Given the description of an element on the screen output the (x, y) to click on. 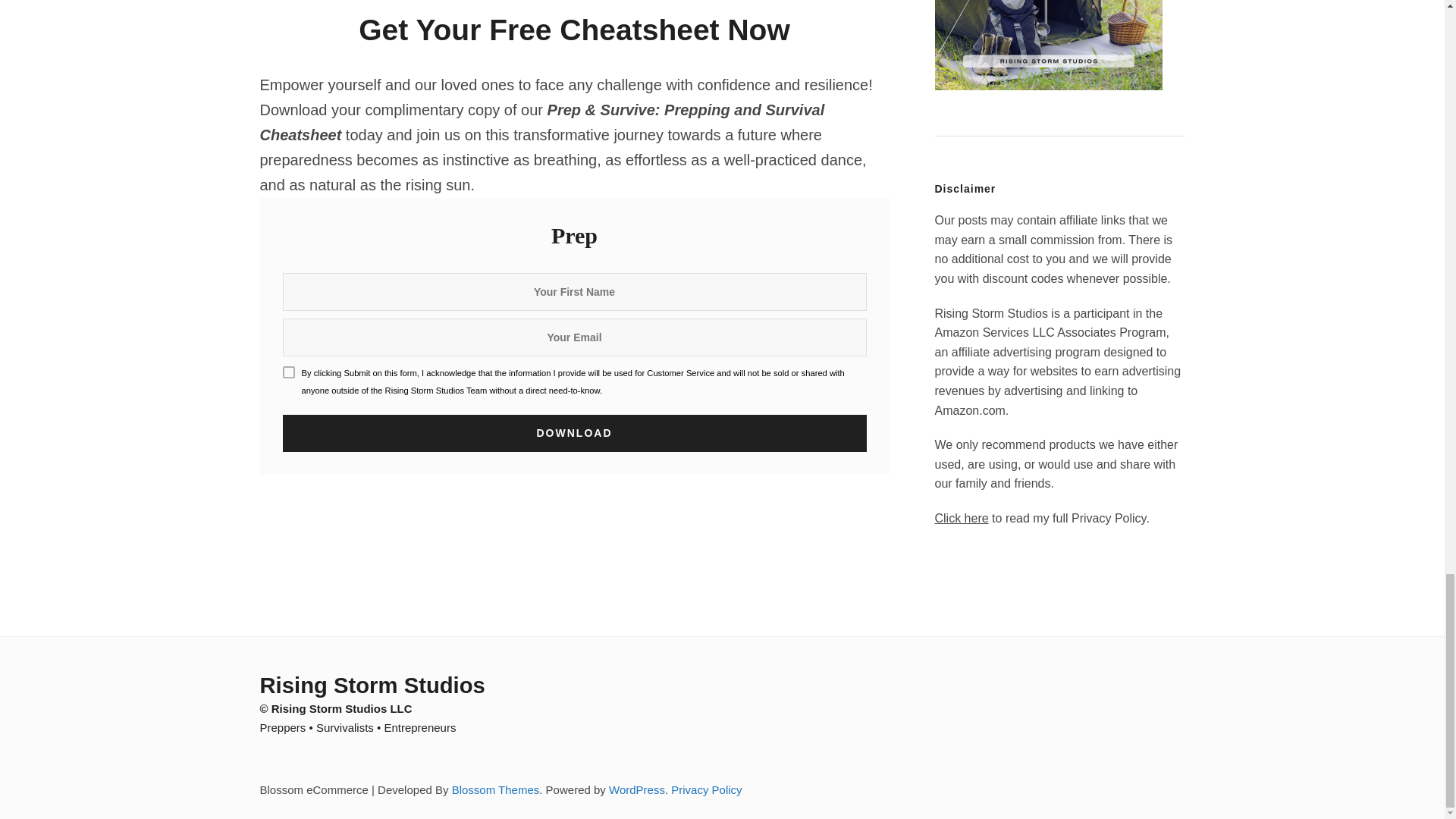
Click here (961, 517)
Blossom Themes (495, 789)
Download (574, 433)
WordPress (636, 789)
Download (574, 433)
Privacy Policy (706, 789)
Rising Storm Studios (371, 685)
